Given the description of an element on the screen output the (x, y) to click on. 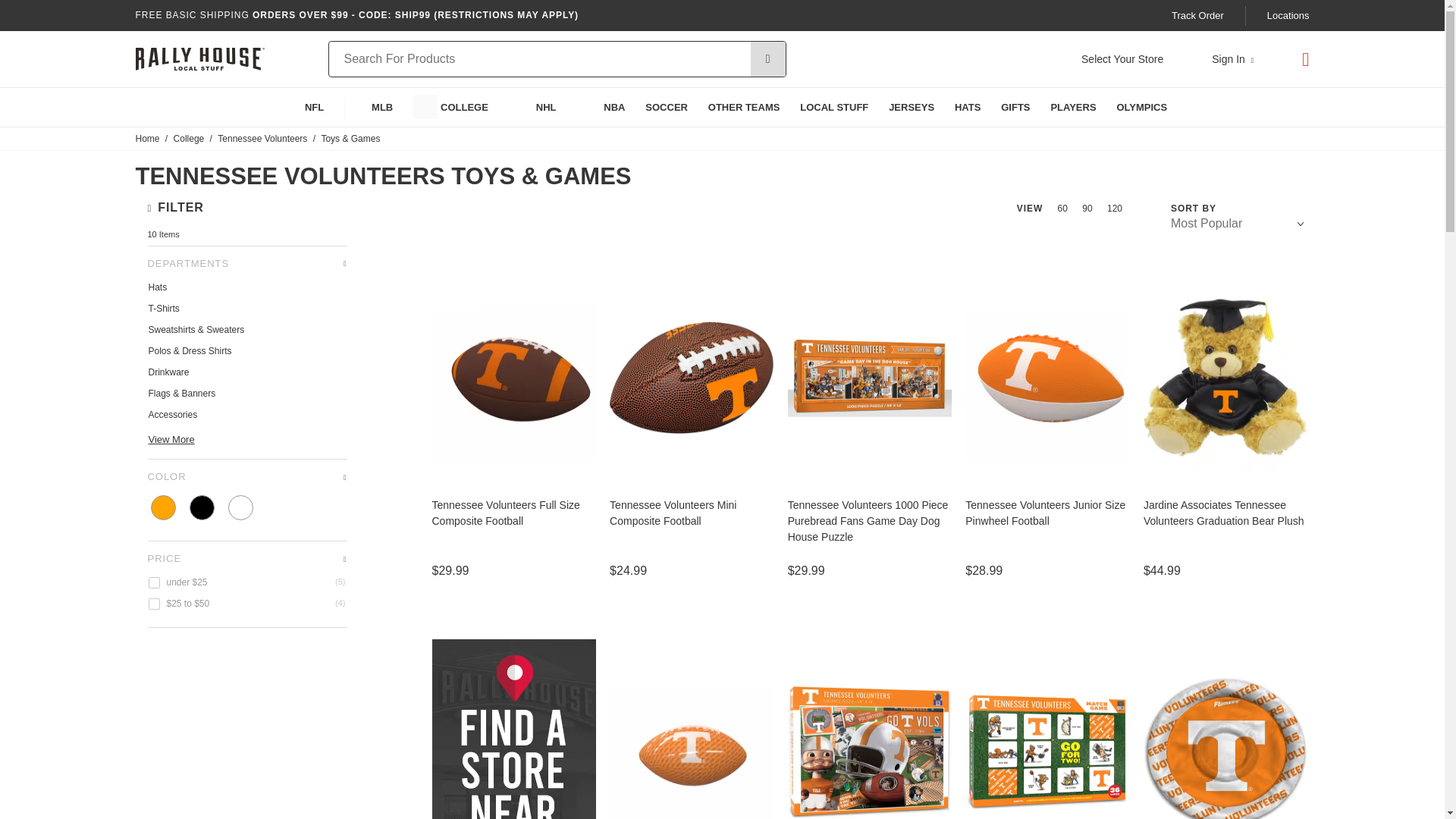
Show 90 per page (1087, 208)
Track Order (1198, 15)
Show 60 per page (1064, 208)
Show 120 per page (1114, 208)
Locations (1287, 15)
Sign In (1232, 59)
